Given the description of an element on the screen output the (x, y) to click on. 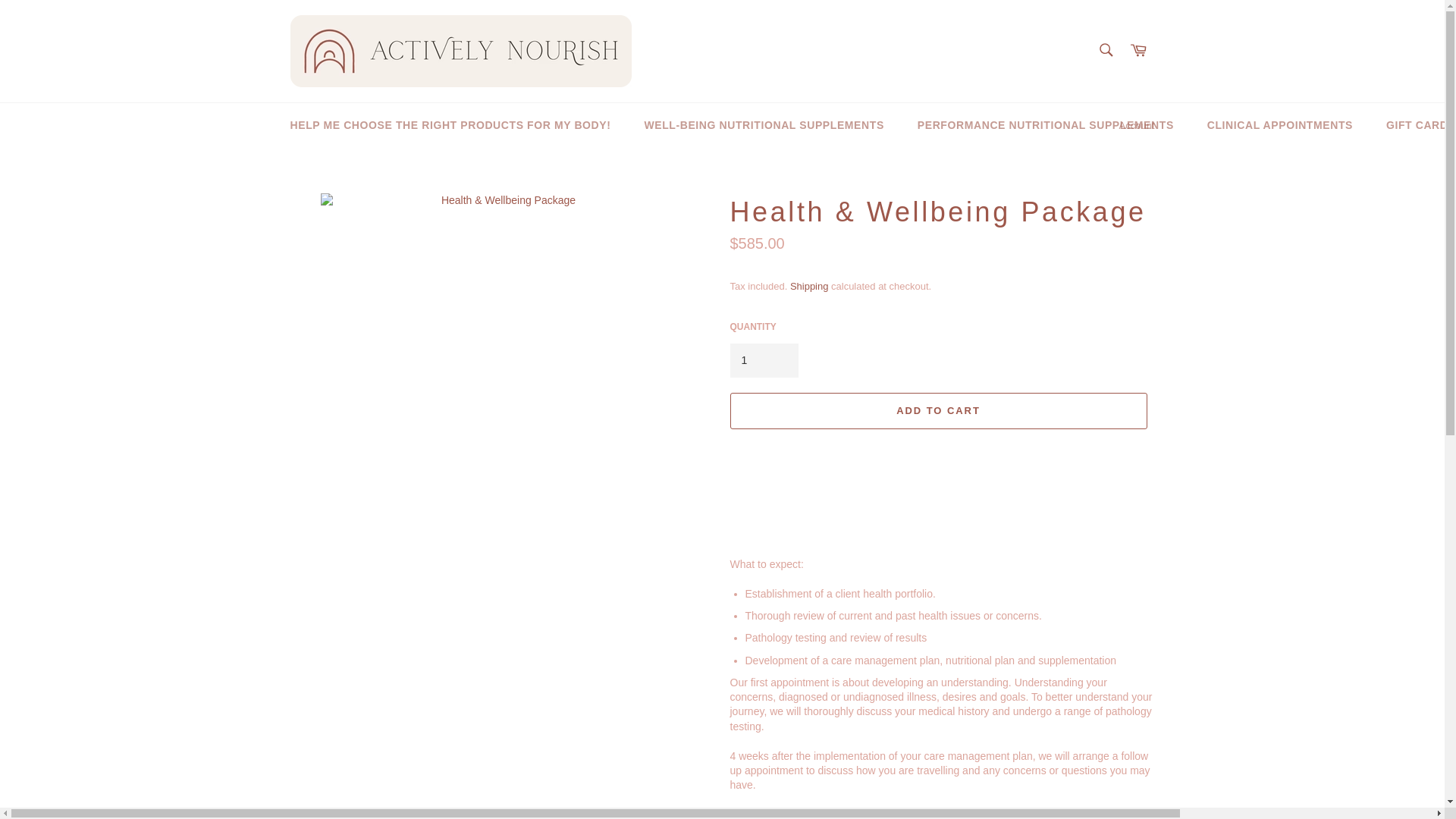
Shipping (809, 285)
CLINICAL APPOINTMENTS (1280, 125)
Cart (1138, 50)
WELL-BEING NUTRITIONAL SUPPLEMENTS (763, 125)
ADD TO CART (938, 411)
PERFORMANCE NUTRITIONAL SUPPLEMENTS (1045, 125)
Search (1104, 50)
GIFT CARDS (1413, 125)
Account (1136, 126)
HELP ME CHOOSE THE RIGHT PRODUCTS FOR MY BODY! (450, 125)
